Given the description of an element on the screen output the (x, y) to click on. 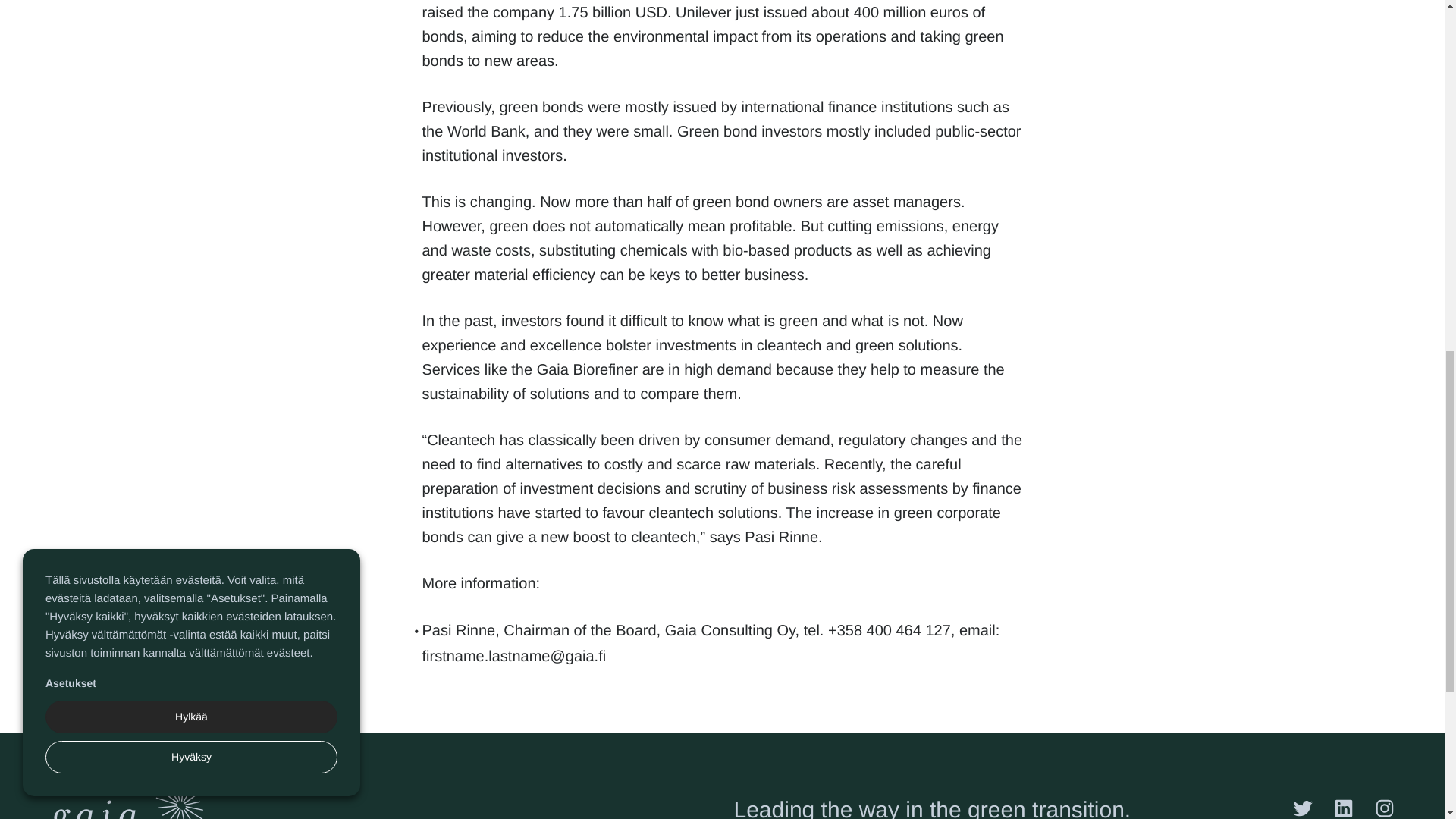
Instagram (1384, 807)
LinkedIn (1343, 807)
Twitter (1302, 807)
